Given the description of an element on the screen output the (x, y) to click on. 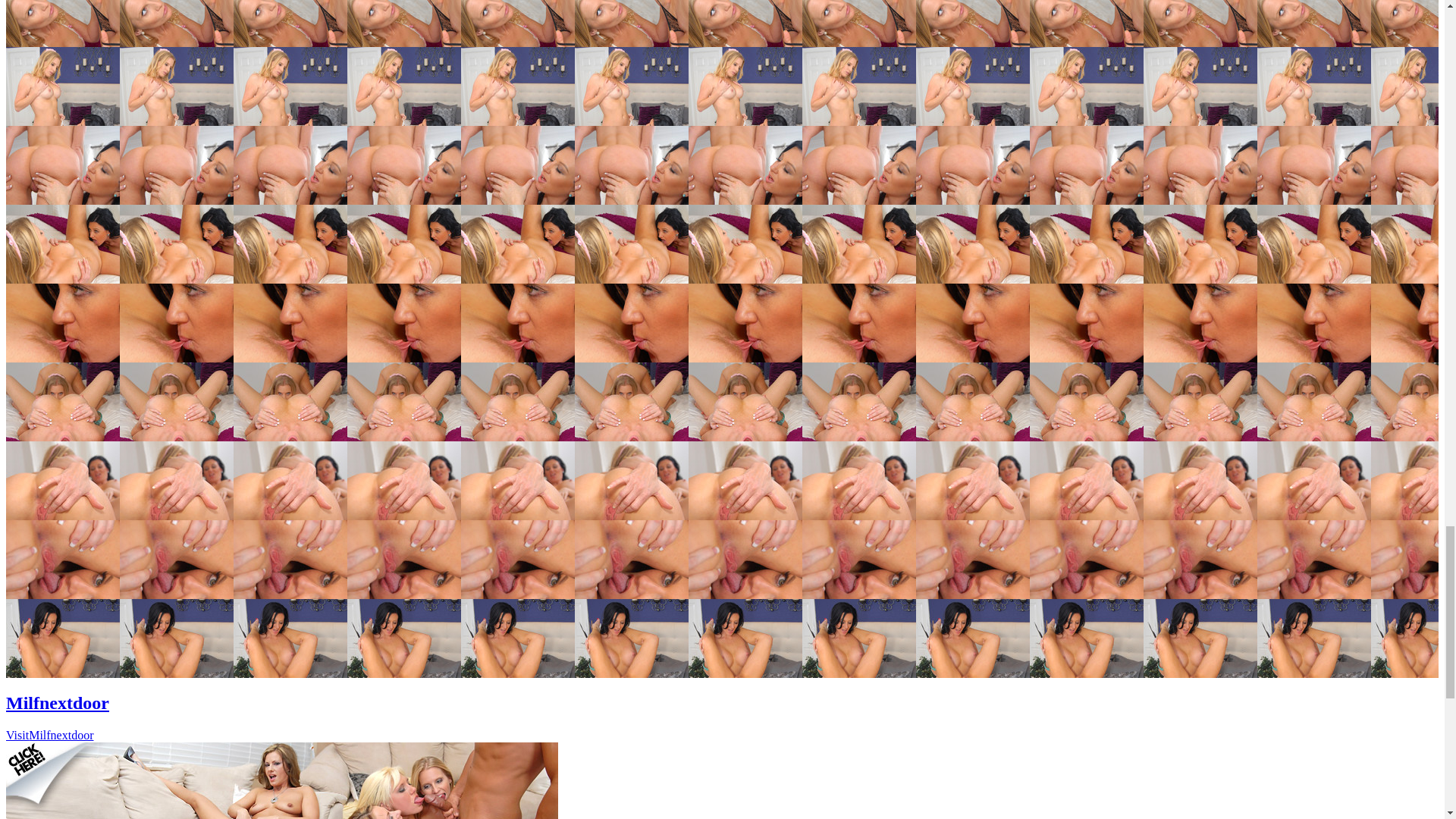
Milfnextdoor (57, 702)
